Given the description of an element on the screen output the (x, y) to click on. 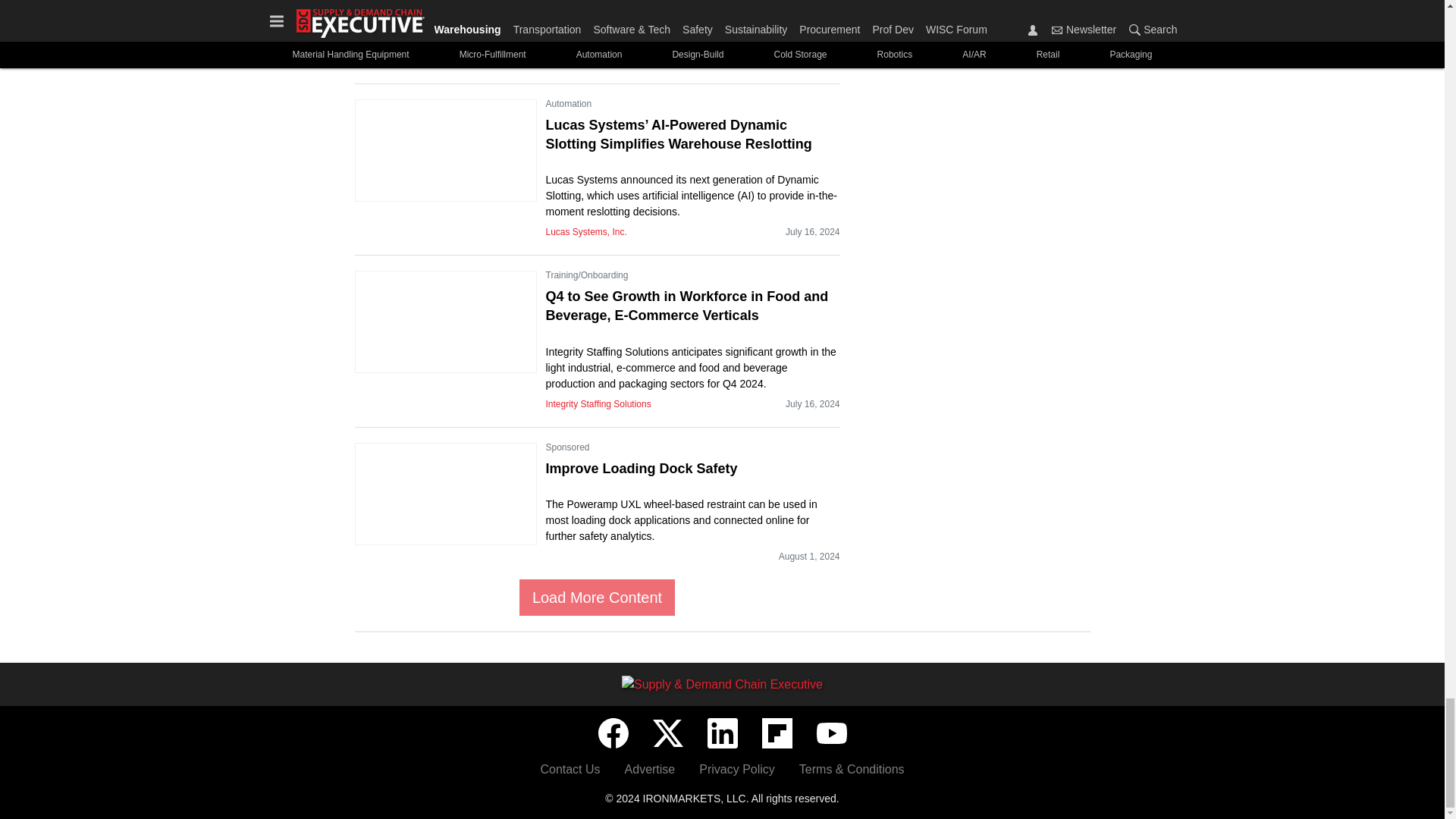
Flipboard icon (776, 733)
Twitter X icon (667, 733)
LinkedIn icon (721, 733)
YouTube icon (830, 733)
Facebook icon (611, 733)
